Given the description of an element on the screen output the (x, y) to click on. 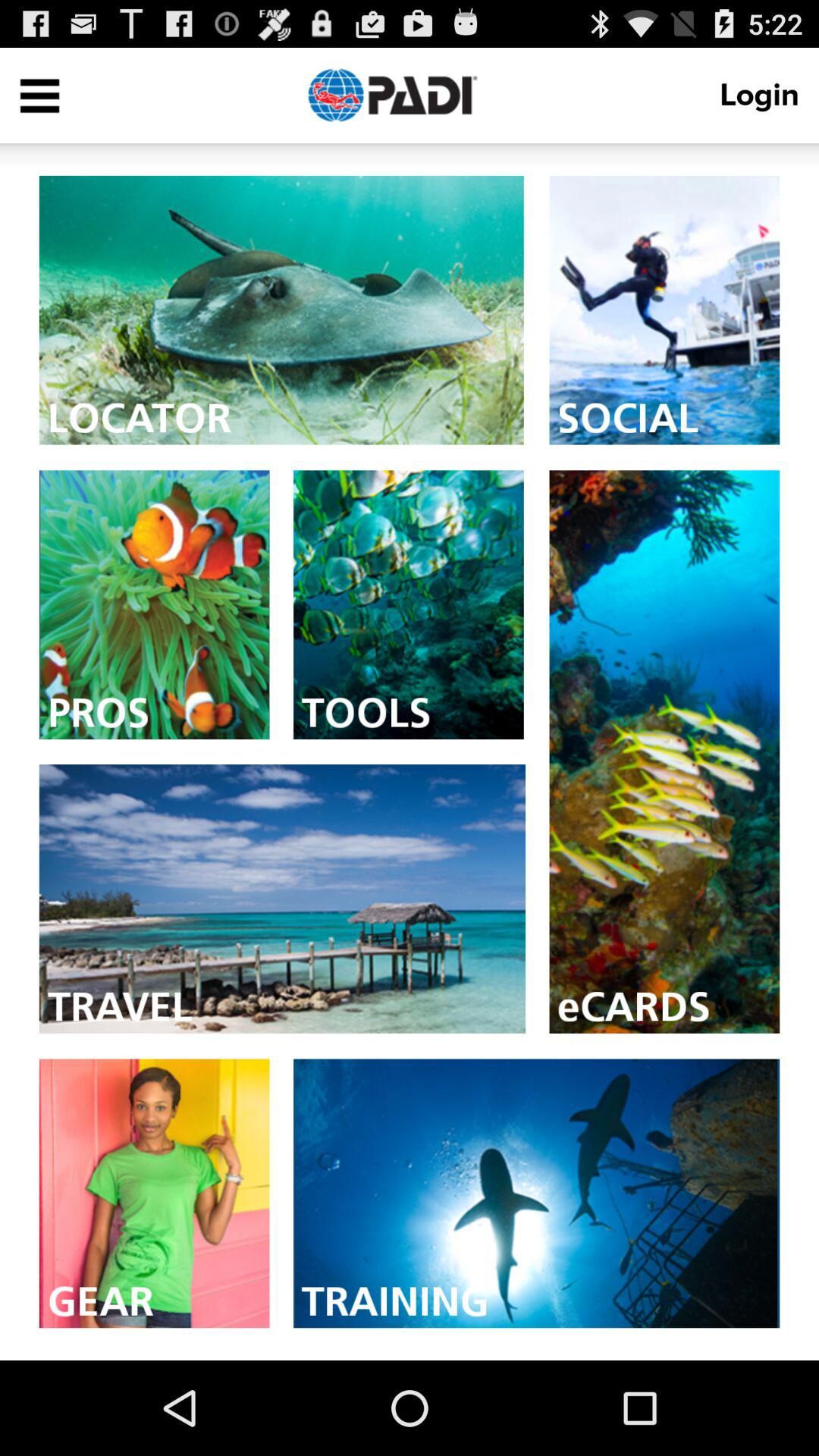
go to tools (408, 604)
